Given the description of an element on the screen output the (x, y) to click on. 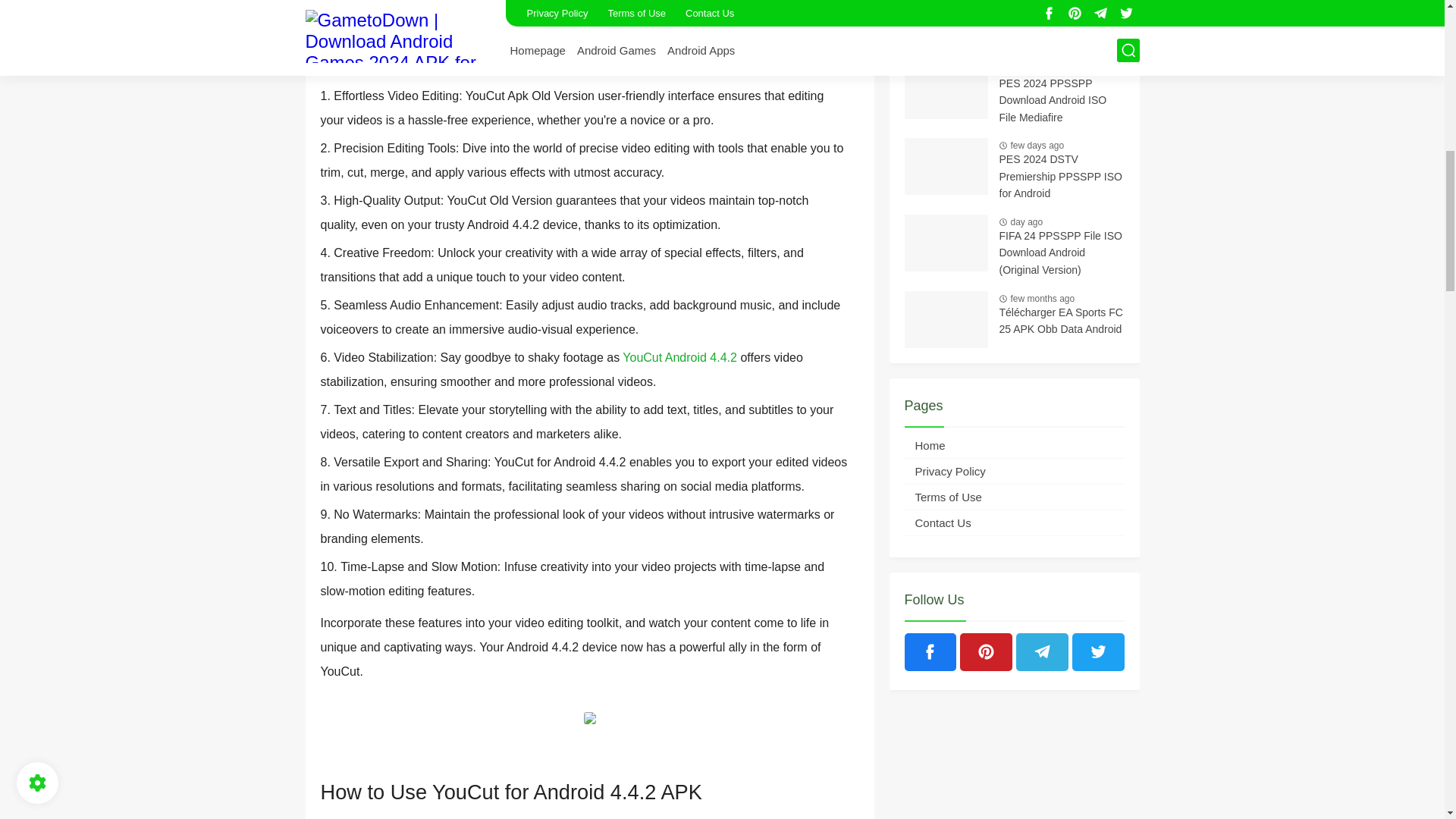
YouCut Android 4.4.2 (679, 357)
